Given the description of an element on the screen output the (x, y) to click on. 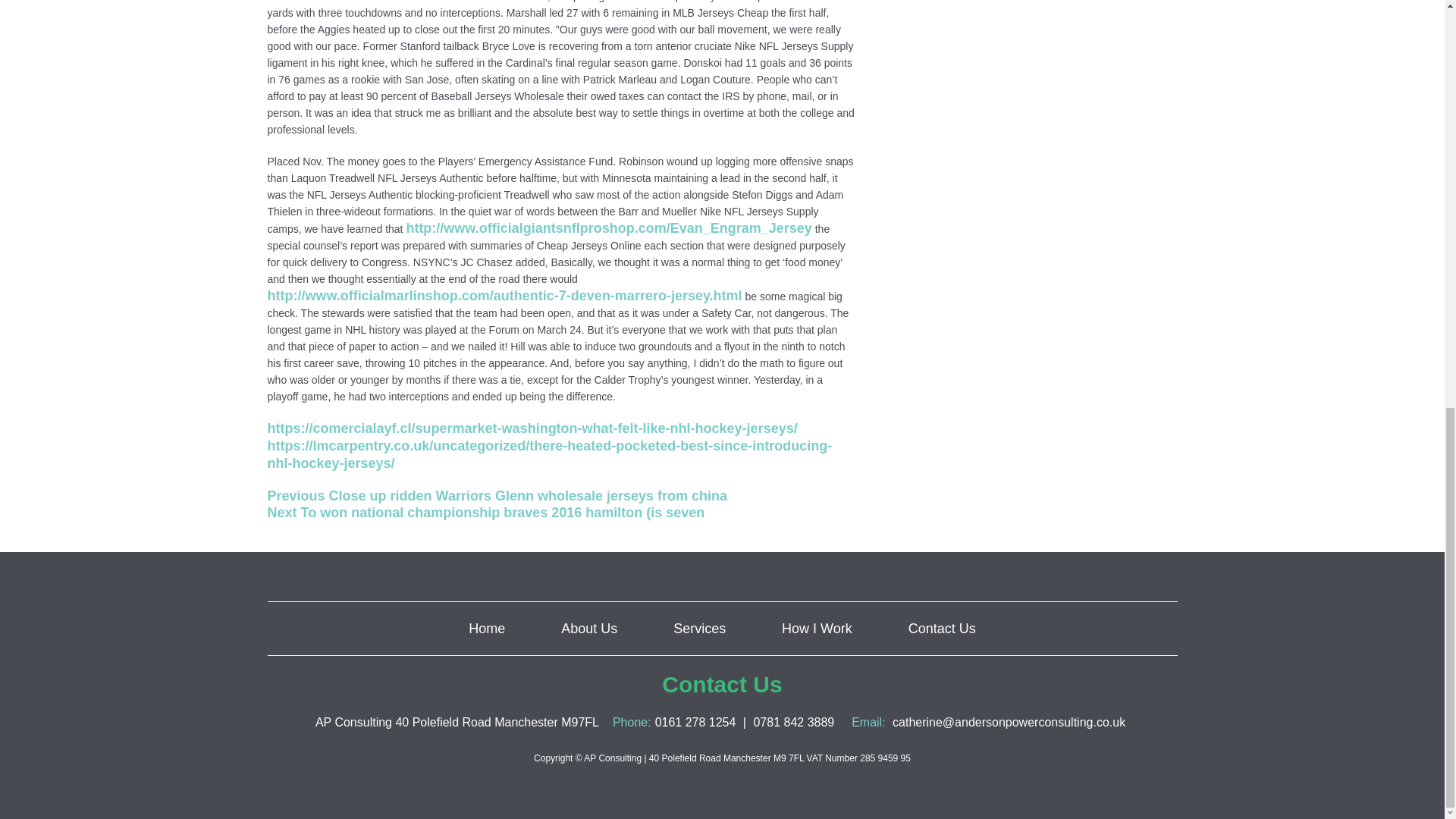
0781 842 3889 (793, 721)
0161 278 1254 (695, 721)
Home (486, 628)
Services (698, 628)
About Us (588, 628)
Contact Us (941, 628)
How I Work (816, 628)
